Given the description of an element on the screen output the (x, y) to click on. 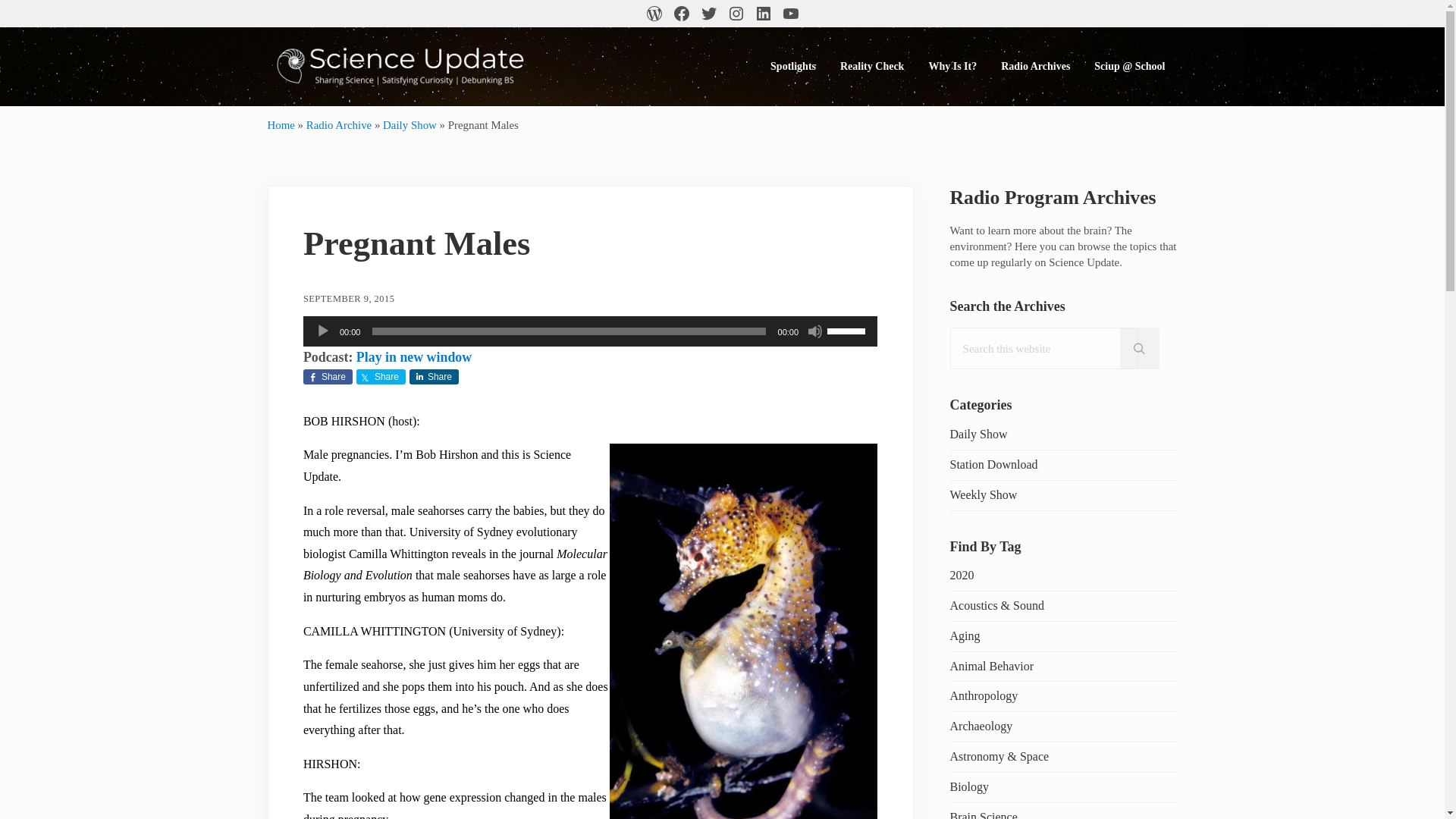
Use to add episode to Station Download page (992, 463)
Reality Check (871, 66)
Share (433, 376)
WordPress (653, 13)
LinkedIn (762, 13)
YouTube (789, 13)
Home (280, 124)
Why Is It? (951, 66)
Share (381, 376)
Twitter (708, 13)
Play in new window (413, 356)
Play in new window (413, 356)
Play (322, 331)
Spotlights (793, 66)
Daily Show (409, 124)
